Given the description of an element on the screen output the (x, y) to click on. 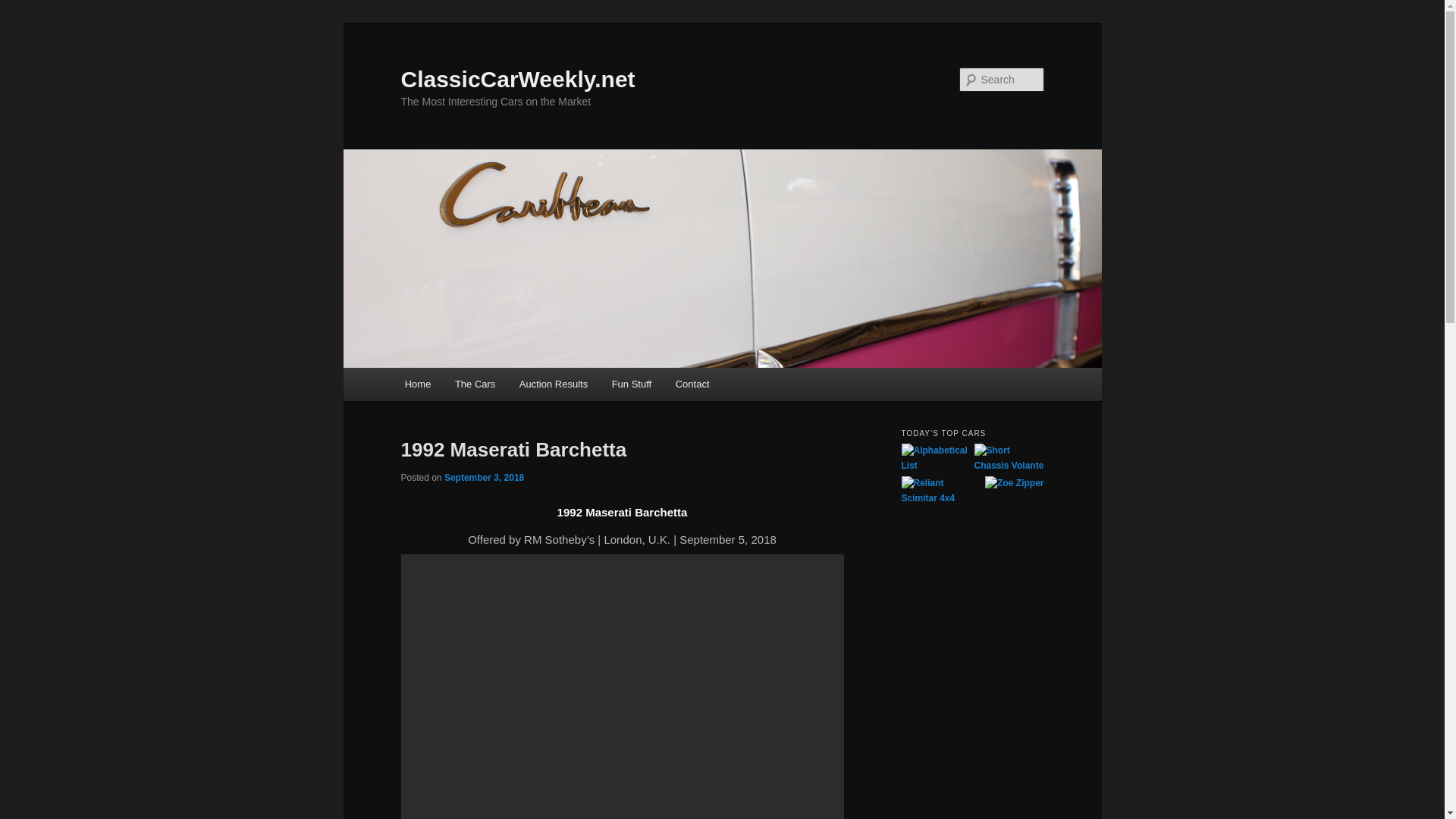
10:26 am (484, 477)
Home (417, 383)
The Cars (474, 383)
Search (24, 8)
Fun Stuff (631, 383)
ClassicCarWeekly.net (517, 78)
Auction Results (552, 383)
